Given the description of an element on the screen output the (x, y) to click on. 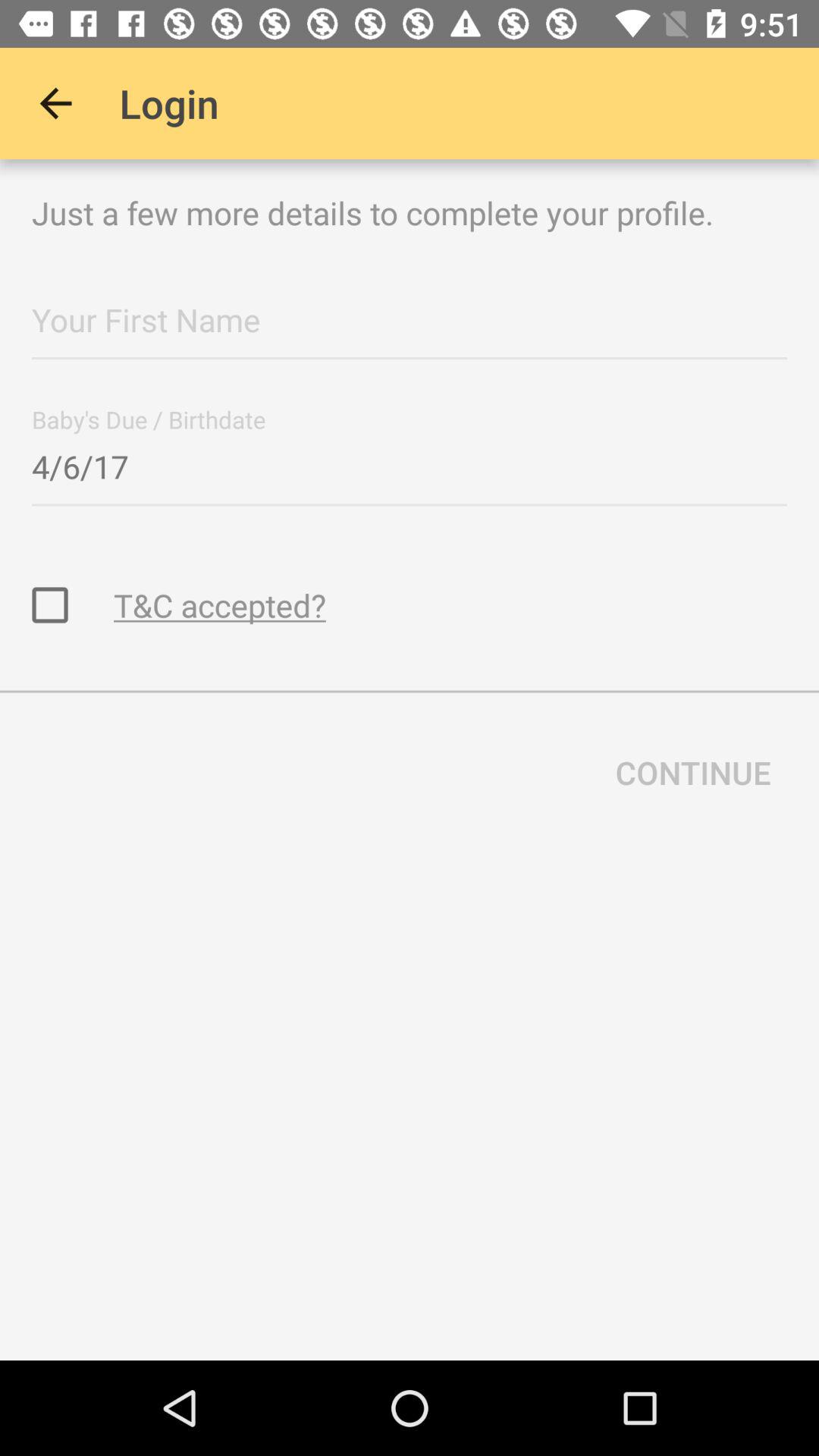
select t&c accepted? item (219, 604)
